Given the description of an element on the screen output the (x, y) to click on. 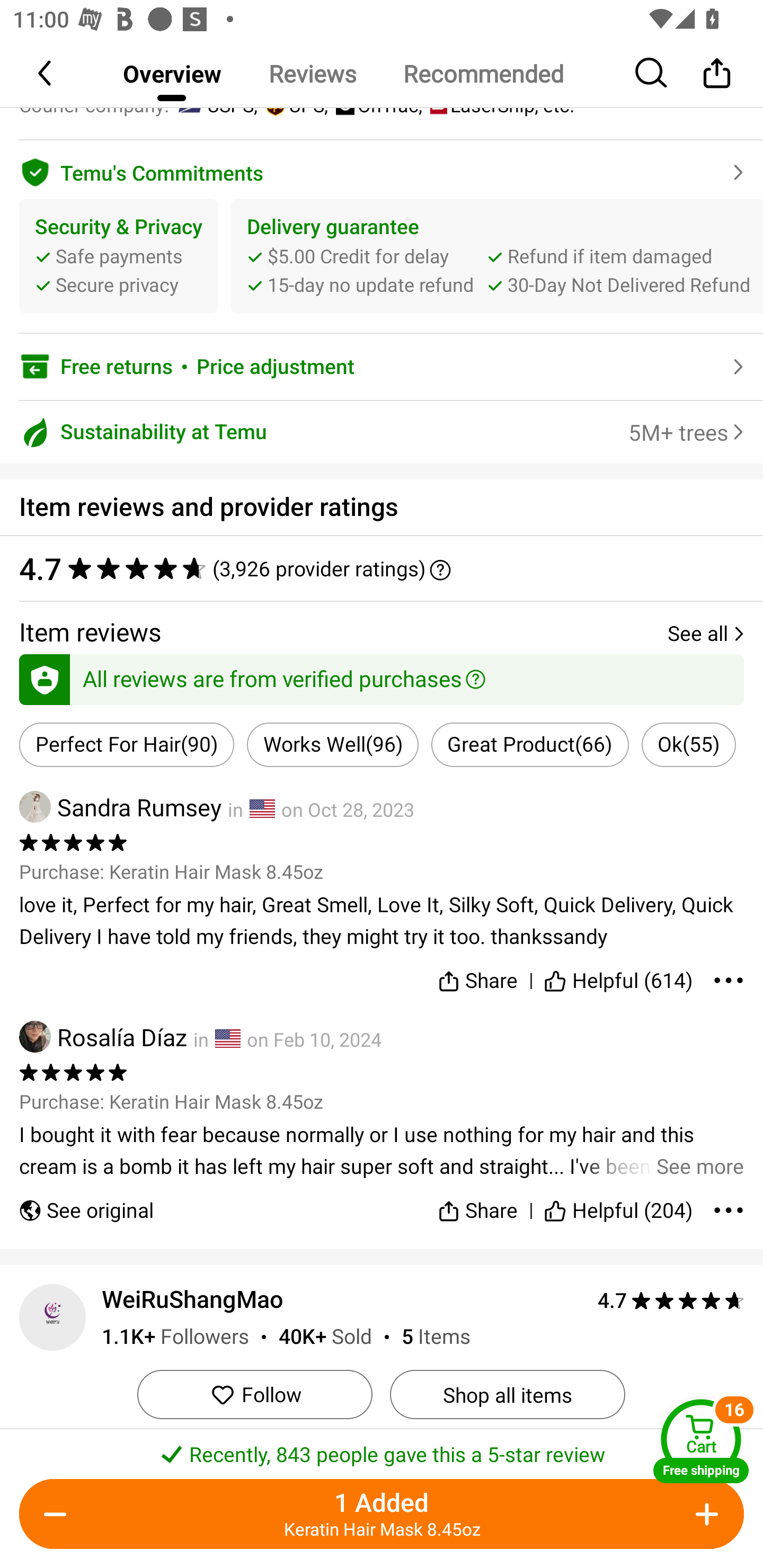
Overview (171, 72)
Reviews (311, 72)
Recommended (482, 72)
Back (46, 72)
Share (716, 72)
Temu's Commitments (381, 170)
Security & Privacy Safe payments Secure privacy (118, 256)
Free returns￼Price adjustment (381, 366)
Sustainability at Temu 5M+ trees (381, 432)
4.7 ‪(3,926 provider ratings) (381, 568)
All reviews are from verified purchases  (381, 676)
Perfect For Hair(90) (126, 744)
Works Well(96) (332, 744)
Great Product(66) (529, 744)
Ok(55) (688, 744)
Sandra Rumsey (120, 806)
  Share (477, 976)
  Helpful (614) (618, 976)
Rosalía Díaz (102, 1036)
See more (381, 1150)
  See original (86, 1202)
  Share (477, 1202)
  Helpful (204) (618, 1202)
  Follow (254, 1394)
Shop all items (506, 1394)
Cart Free shipping Cart (701, 1440)
￼￼Recently, 843 people gave this a 5-star review (381, 1448)
Decrease Quantity Button (59, 1513)
Add Quantity button (703, 1513)
